Given the description of an element on the screen output the (x, y) to click on. 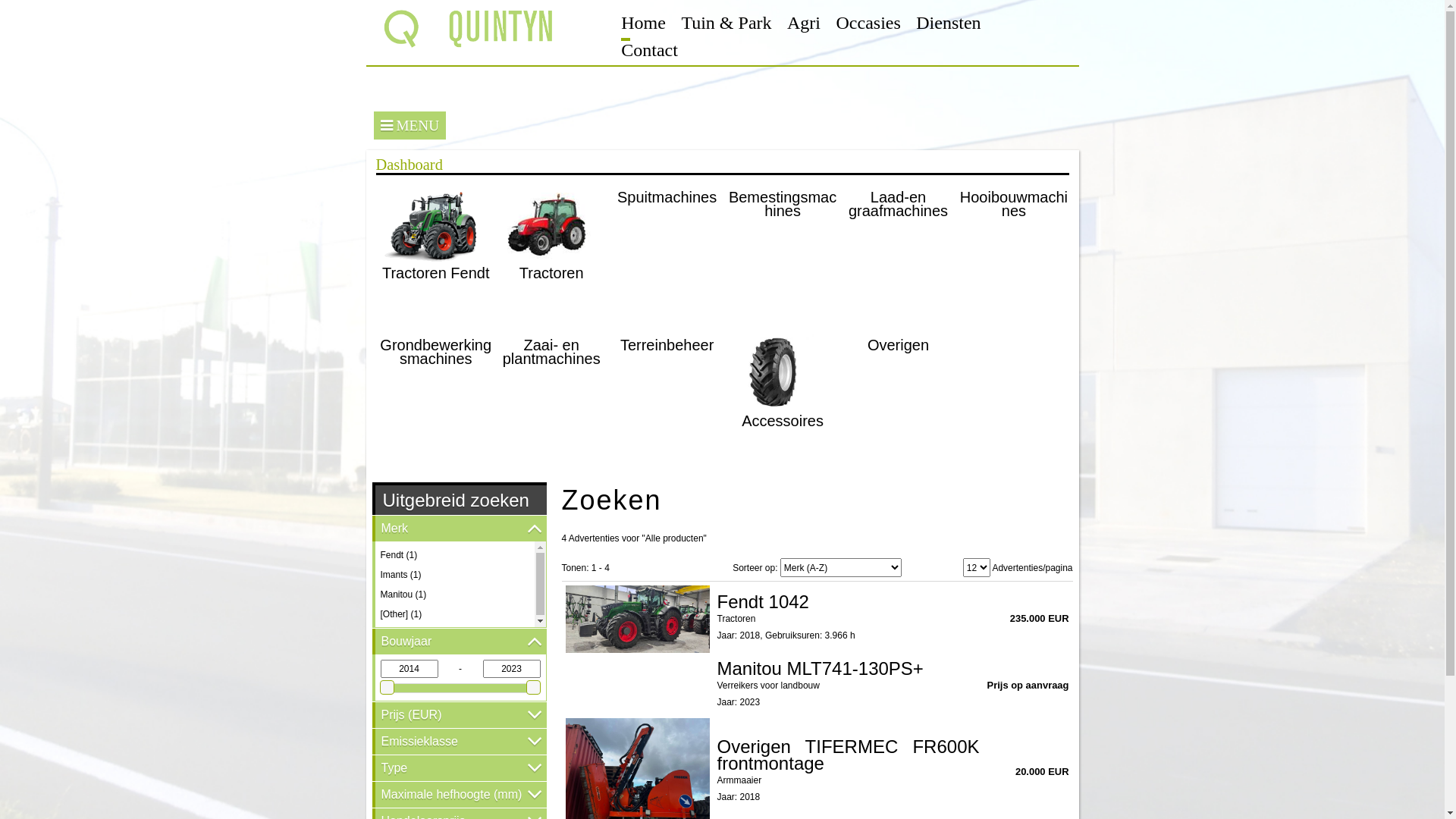
Prijs (EUR) Element type: text (458, 715)
Fendt 1042, Tractoren, Landbouw Element type: hover (637, 618)
Emissieklasse Element type: text (458, 741)
Maximale hefhoogte (mm) Element type: text (458, 794)
Bouwjaar Element type: text (458, 641)
Zaai- en plantmachines Element type: text (545, 398)
Diensten Element type: text (948, 22)
Grondbewerkingsmachines Element type: text (429, 398)
Spuitmachines Element type: text (661, 250)
Overigen TIFERMEC FR600K frontmontage Element type: text (848, 754)
Overigen Element type: text (891, 398)
Manitou Element type: text (396, 594)
Type Element type: text (458, 768)
Fendt Element type: text (392, 554)
Tractoren Fendt Element type: text (429, 250)
Occasies Element type: text (867, 22)
Dashboard Element type: text (409, 164)
Tuin & Park Element type: text (725, 22)
[Other] Element type: text (394, 613)
Imants Element type: text (393, 574)
Tractoren Element type: text (545, 250)
Home Element type: text (643, 22)
Hooibouwmachines Element type: text (1007, 250)
Accessoires Element type: text (776, 398)
Laad-en graafmachines Element type: text (891, 250)
Bemestingsmachines Element type: text (776, 250)
Contact Element type: text (649, 49)
Manitou MLT741-130PS+ Element type: text (820, 668)
Merk Element type: text (458, 528)
Terreinbeheer Element type: text (661, 398)
Fendt 1042 Element type: text (763, 601)
Agri Element type: text (803, 22)
